Given the description of an element on the screen output the (x, y) to click on. 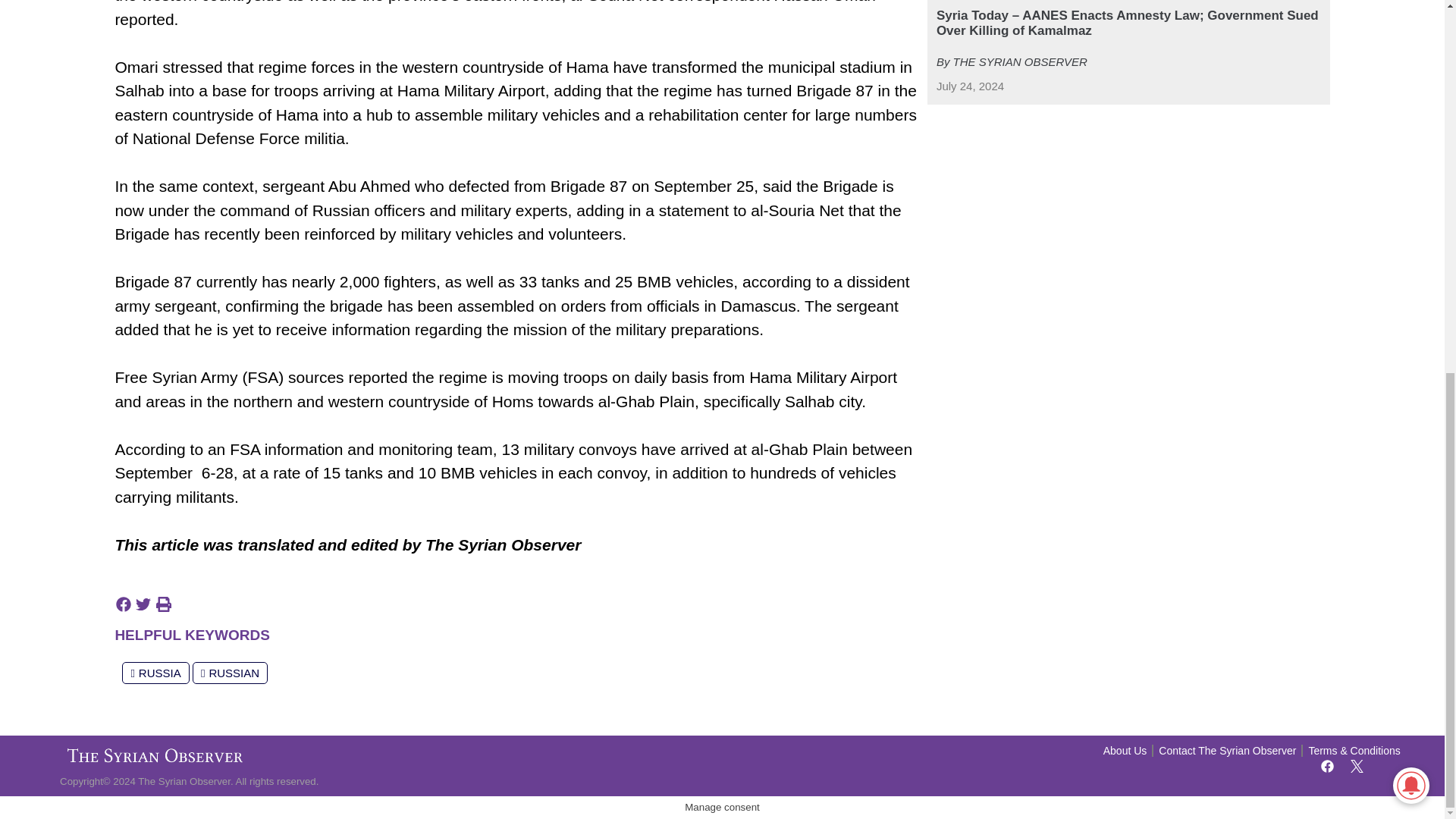
About Us (1125, 750)
July 24, 2024 (970, 86)
RUSSIAN (229, 672)
Contact The Syrian Observer (1227, 750)
RUSSIA (155, 672)
